Given the description of an element on the screen output the (x, y) to click on. 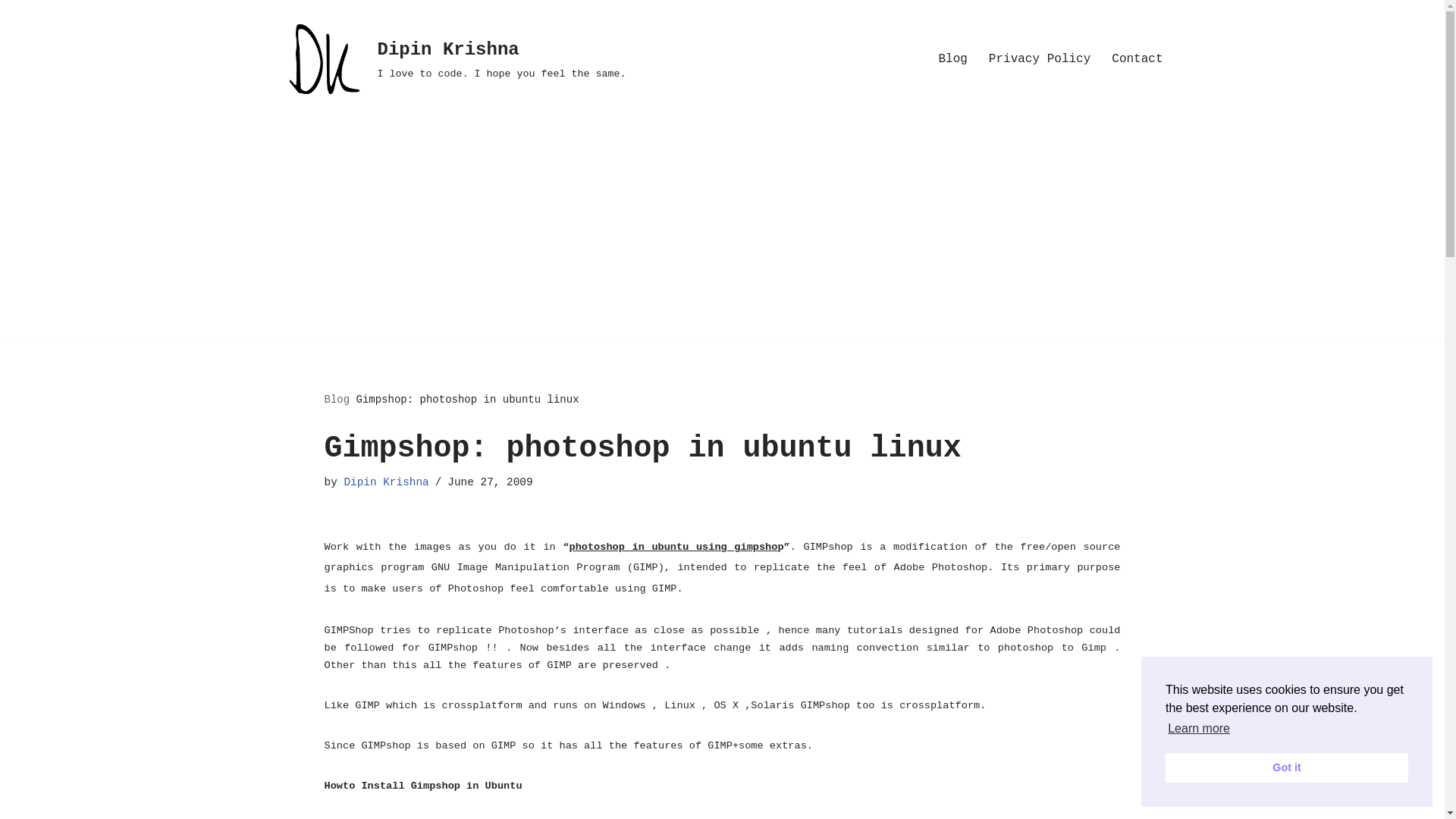
Privacy Policy (1039, 59)
Contact (1136, 59)
Contact (1136, 59)
Skip to content (11, 31)
Posts by Dipin Krishna (385, 481)
Dipin Krishna (385, 481)
Learn more (452, 58)
Blog (1198, 728)
